Given the description of an element on the screen output the (x, y) to click on. 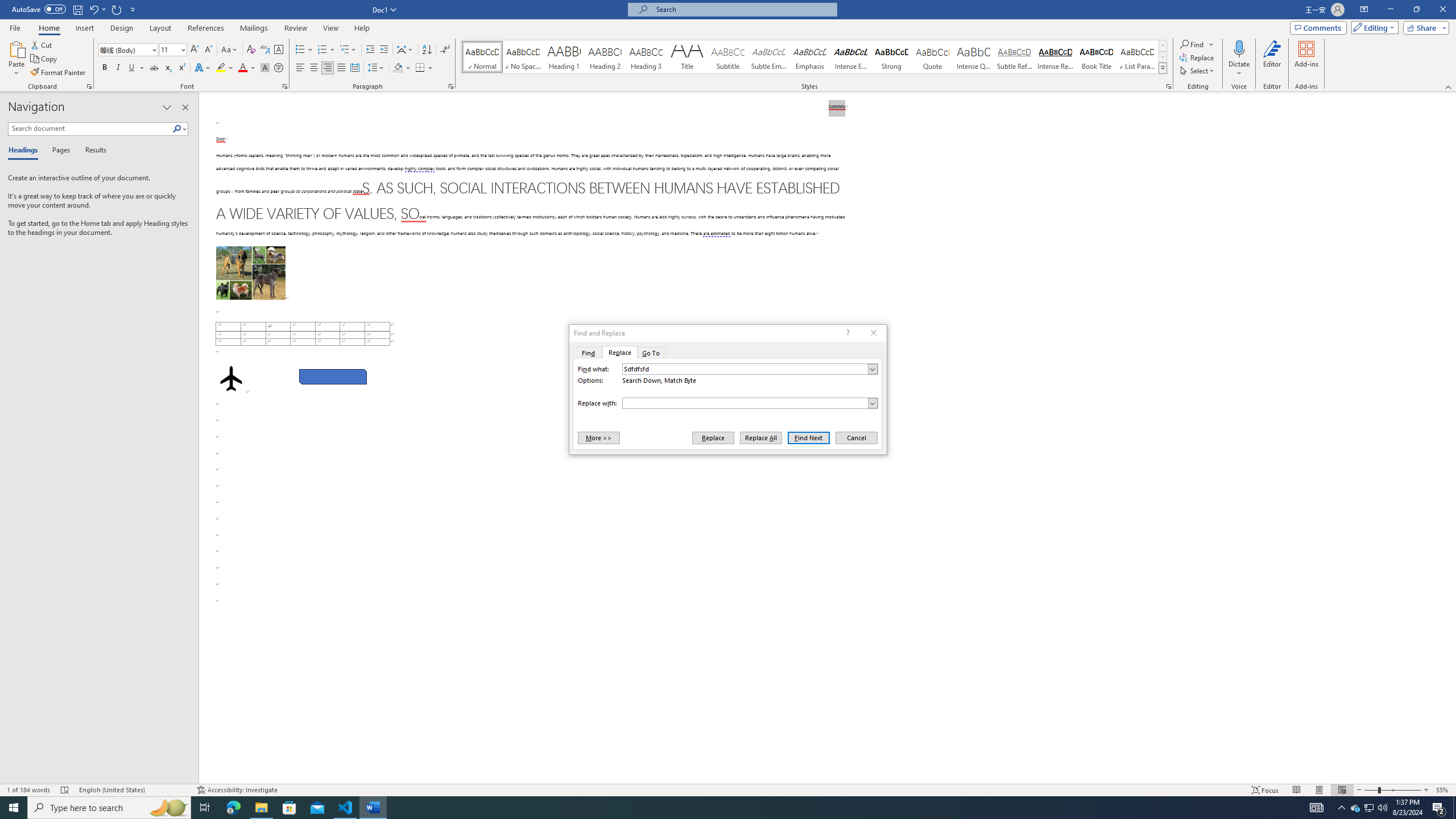
View (330, 28)
Mailings (253, 28)
Text Effects and Typography (202, 67)
Intense Reference (1055, 56)
Help (361, 28)
Minimize (1390, 9)
Copy (45, 58)
Text Highlight Color (224, 67)
Spelling and Grammar Check Errors (65, 790)
Row Down (1162, 56)
AutomationID: QuickStylesGallery (814, 56)
Open (182, 49)
Close pane (185, 107)
Numbering (322, 49)
